Given the description of an element on the screen output the (x, y) to click on. 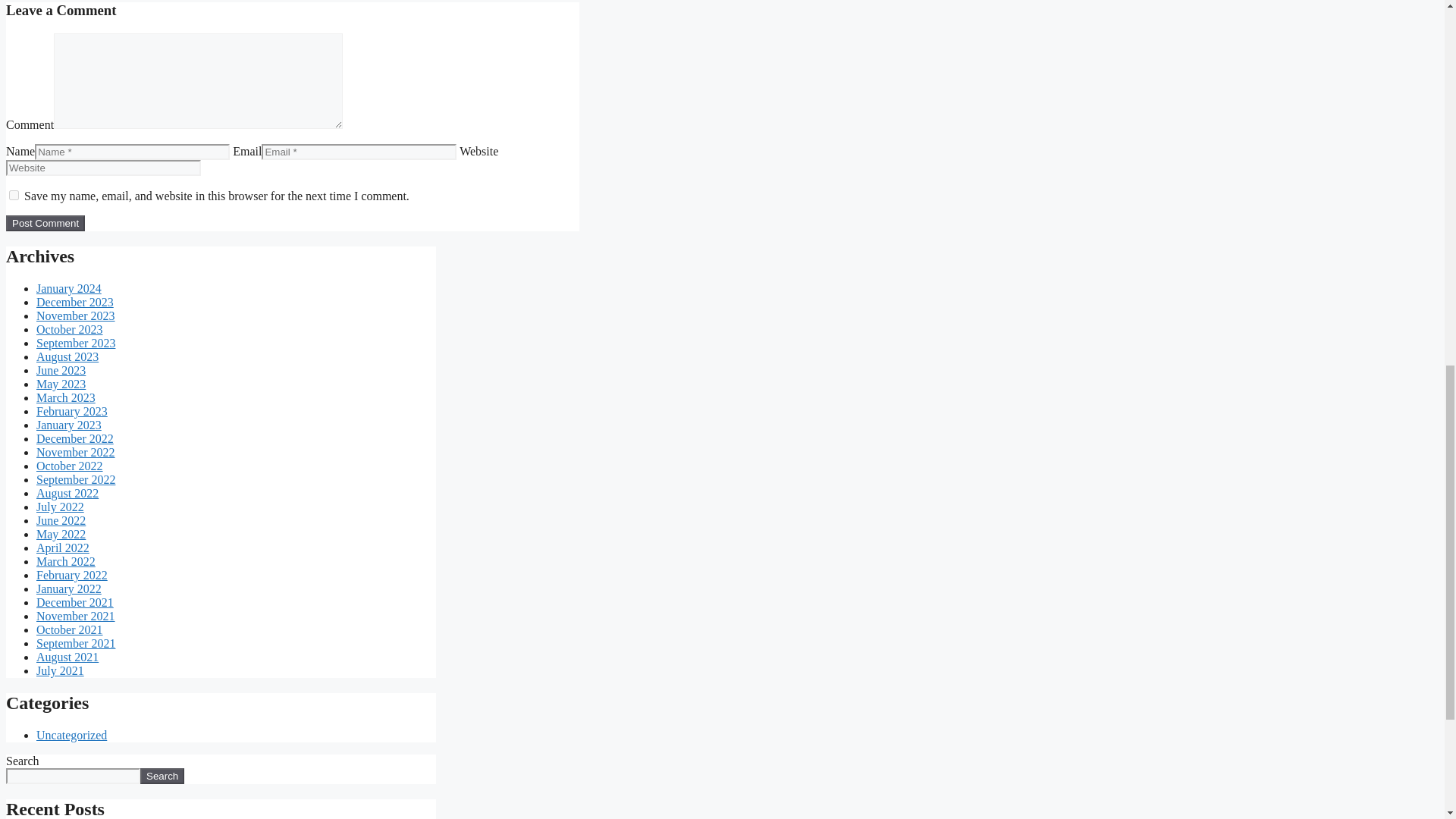
November 2023 (75, 315)
February 2022 (71, 574)
Post Comment (44, 222)
October 2021 (69, 629)
January 2022 (68, 588)
August 2023 (67, 356)
November 2022 (75, 451)
August 2022 (67, 492)
October 2022 (69, 465)
July 2022 (60, 506)
